Given the description of an element on the screen output the (x, y) to click on. 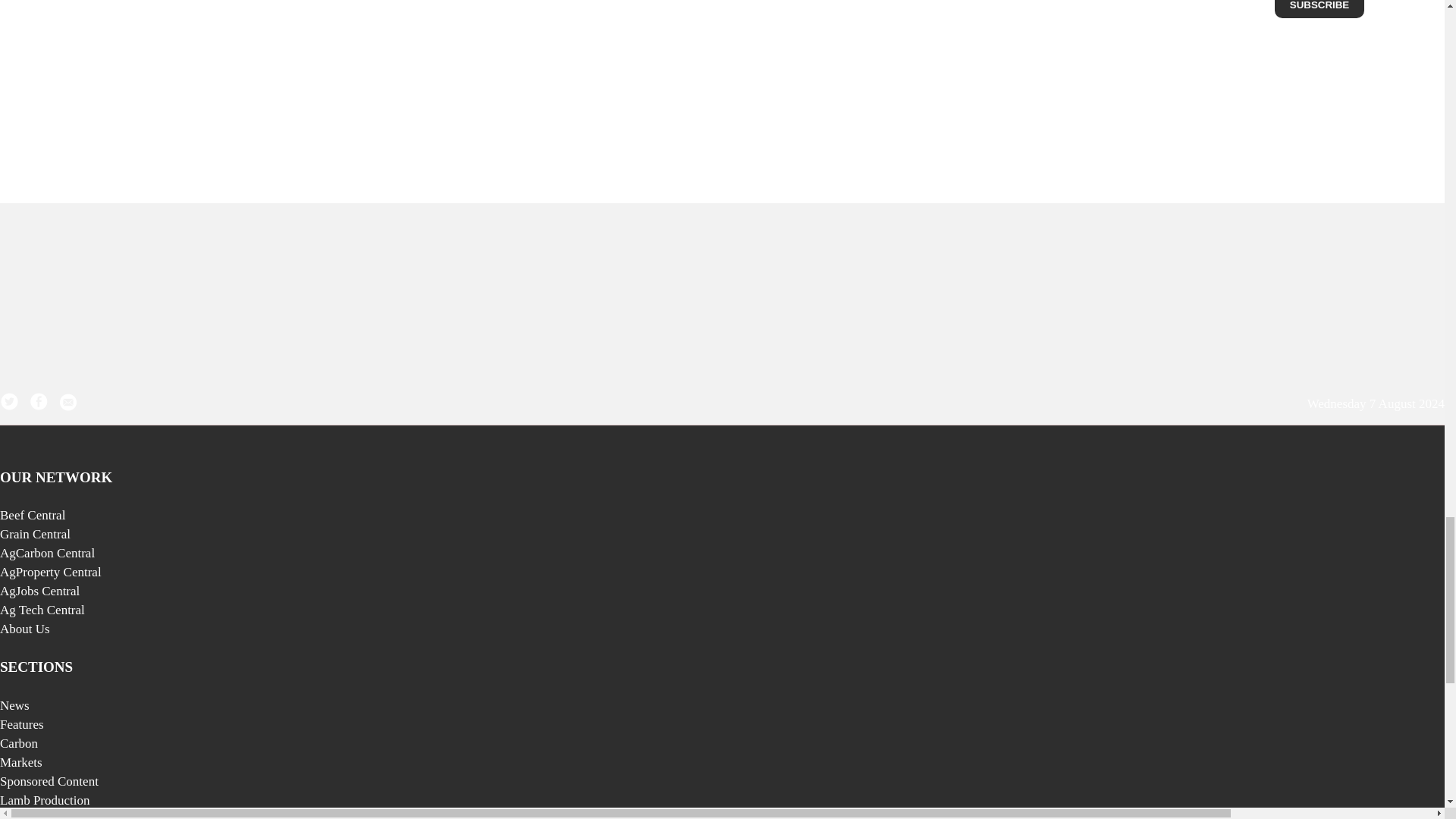
3rd party ad content (1296, 8)
3rd party ad content (721, 282)
